Given the description of an element on the screen output the (x, y) to click on. 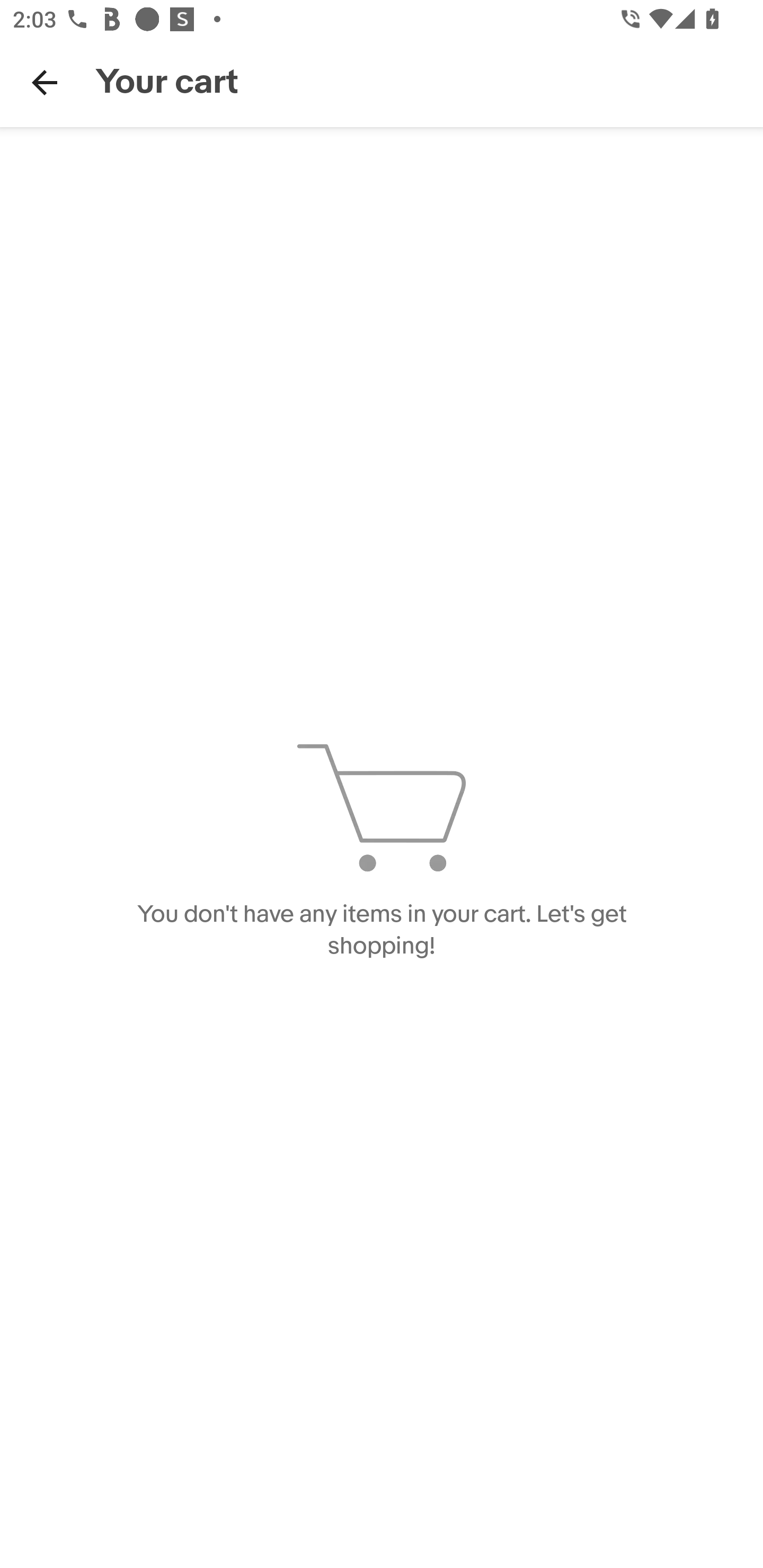
Navigate up (44, 82)
